Given the description of an element on the screen output the (x, y) to click on. 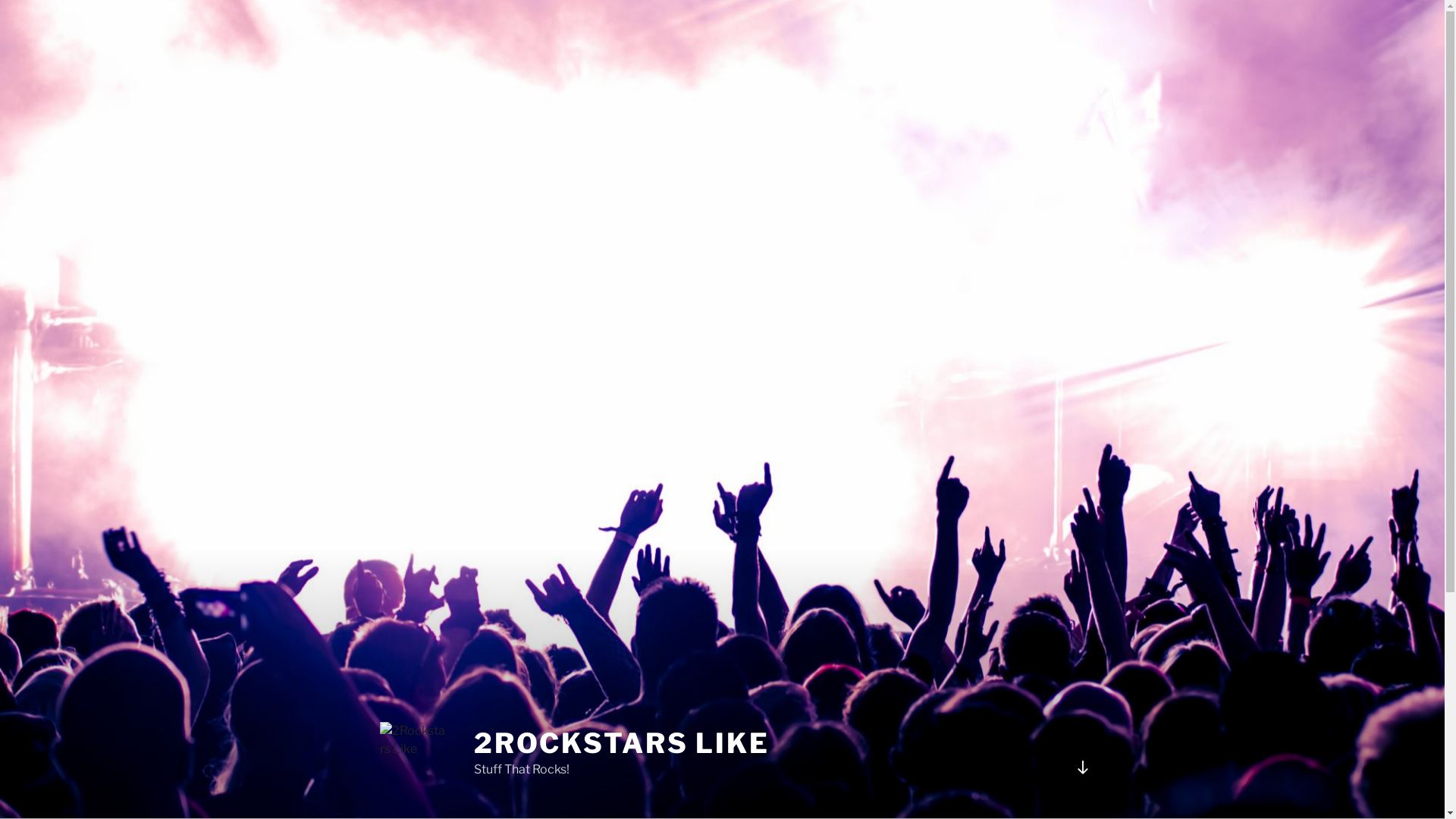
Skip to content Element type: text (0, 0)
2ROCKSTARS LIKE Element type: text (621, 742)
Scroll down to content Element type: text (1082, 767)
